Given the description of an element on the screen output the (x, y) to click on. 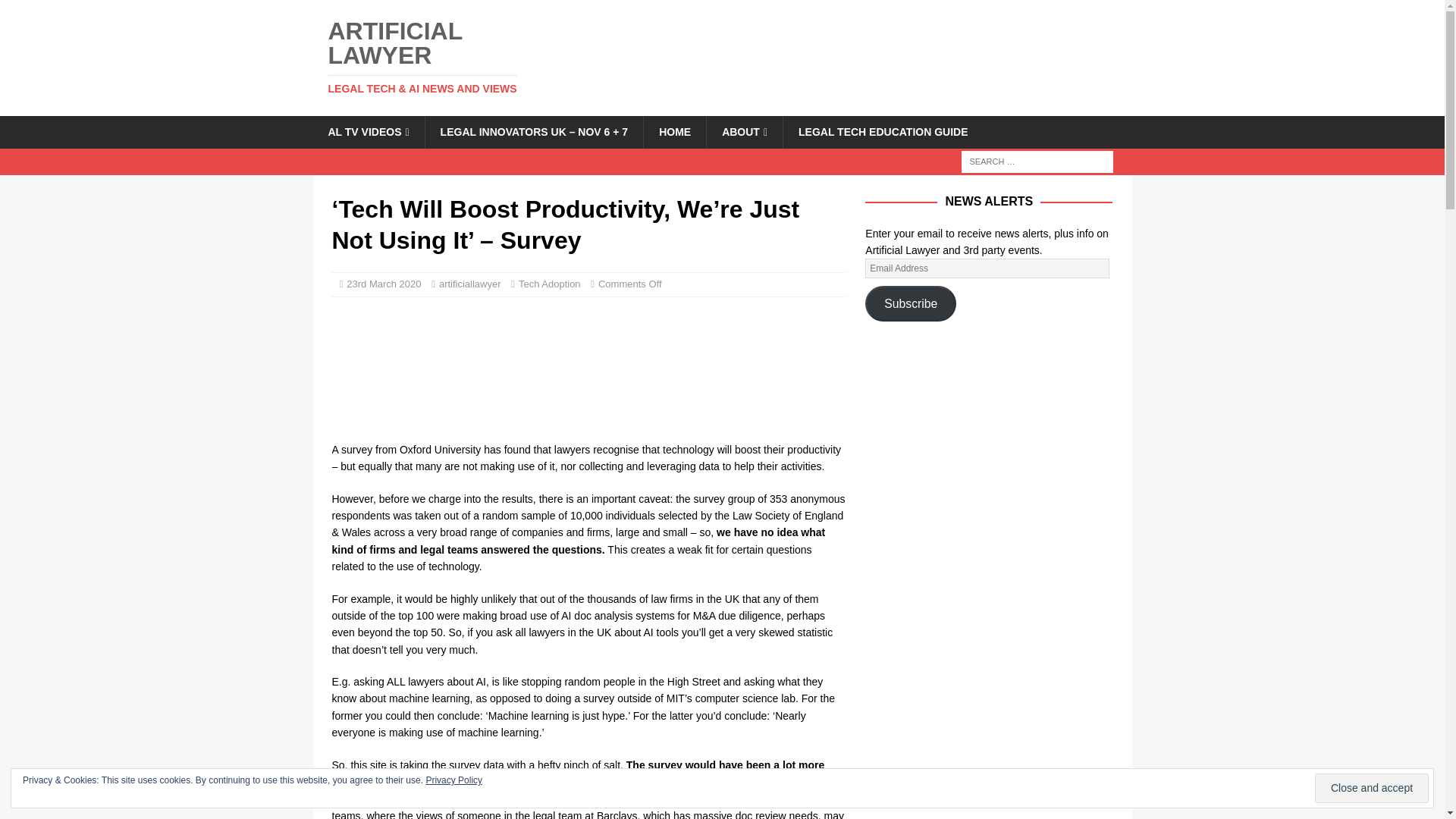
LEGAL TECH EDUCATION GUIDE (883, 132)
ABOUT (744, 132)
Close and accept (1371, 788)
23rd March 2020 (383, 283)
Artificial Lawyer (441, 56)
Close and accept (1371, 788)
Screenshot 2020-03-23 at 08.25.04 (588, 368)
HOME (674, 132)
AL TV VIDEOS (368, 132)
artificiallawyer (469, 283)
